Given the description of an element on the screen output the (x, y) to click on. 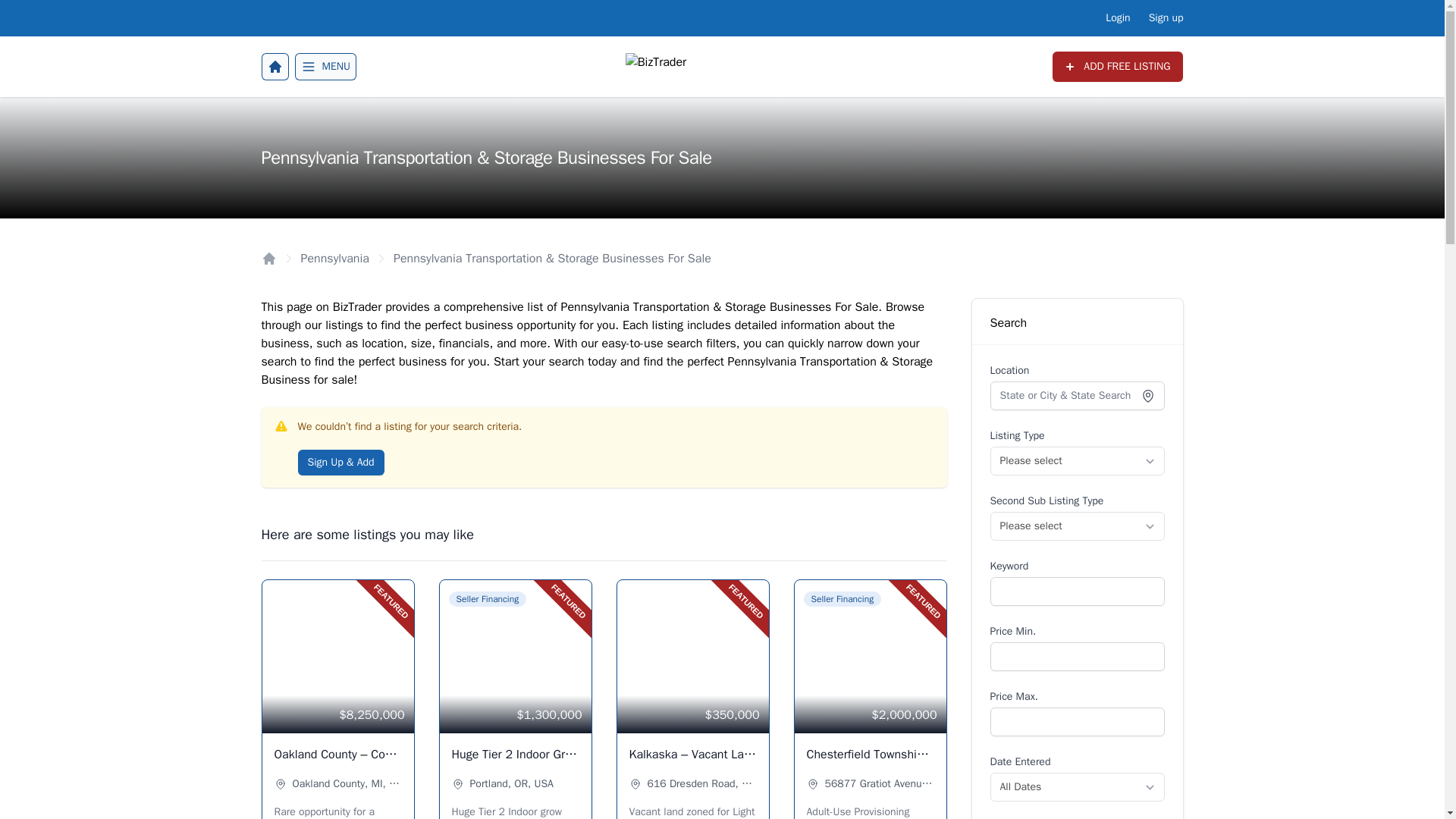
ADD FREE LISTING (1117, 66)
Sign up (1165, 17)
MENU (325, 66)
Login (1117, 17)
